Given the description of an element on the screen output the (x, y) to click on. 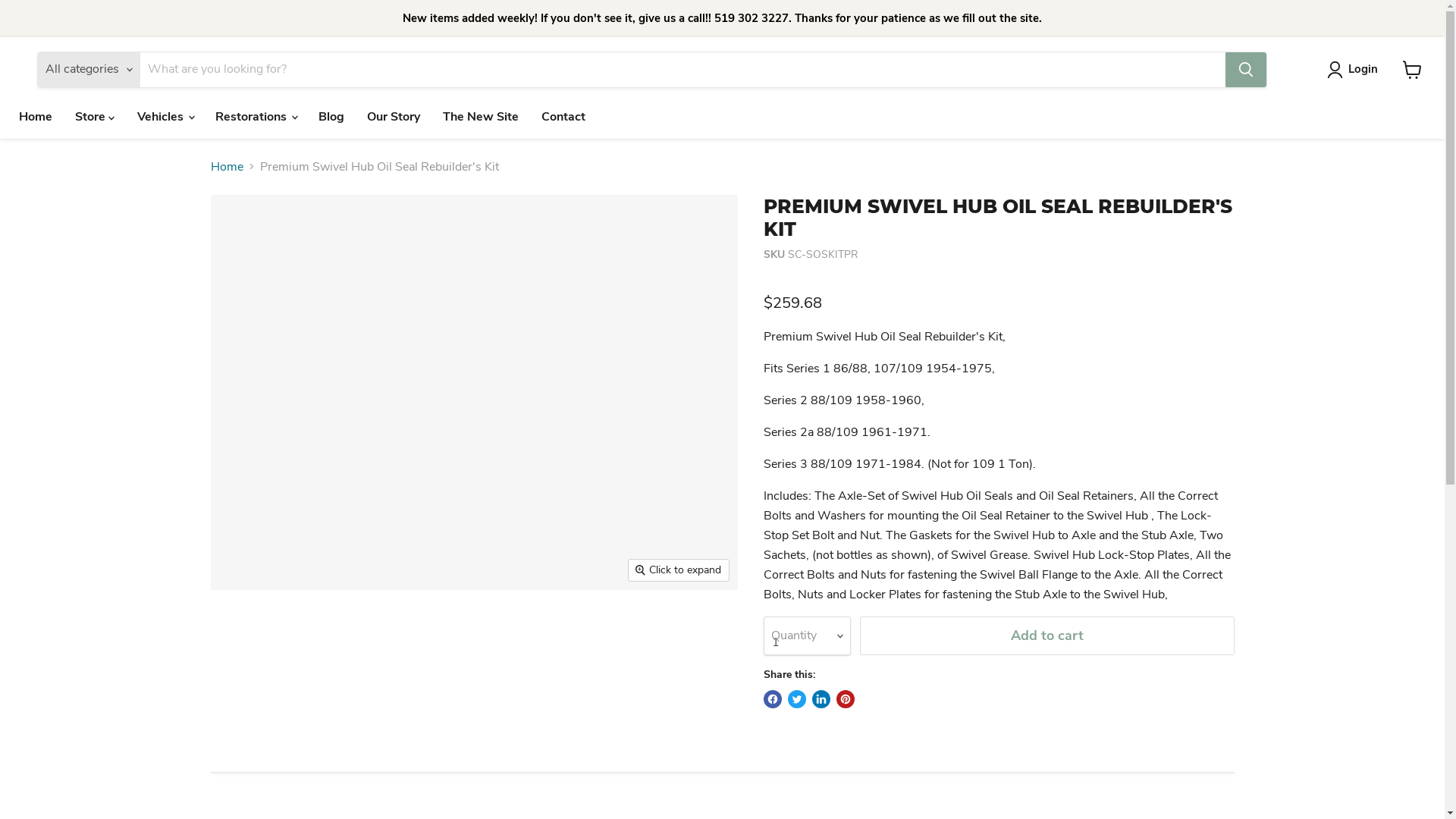
Click to expand Element type: text (678, 569)
Tweet on Twitter Element type: text (796, 699)
Our Story Element type: text (393, 115)
The New Site Element type: text (480, 115)
Add to cart Element type: text (1046, 635)
Share on LinkedIn Element type: text (820, 699)
View cart Element type: text (1412, 69)
Home Element type: text (35, 115)
Blog Element type: text (331, 115)
Login Element type: text (1362, 69)
Home Element type: text (226, 165)
Share on Facebook Element type: text (771, 699)
Contact Element type: text (563, 115)
Pin on Pinterest Element type: text (844, 699)
